Given the description of an element on the screen output the (x, y) to click on. 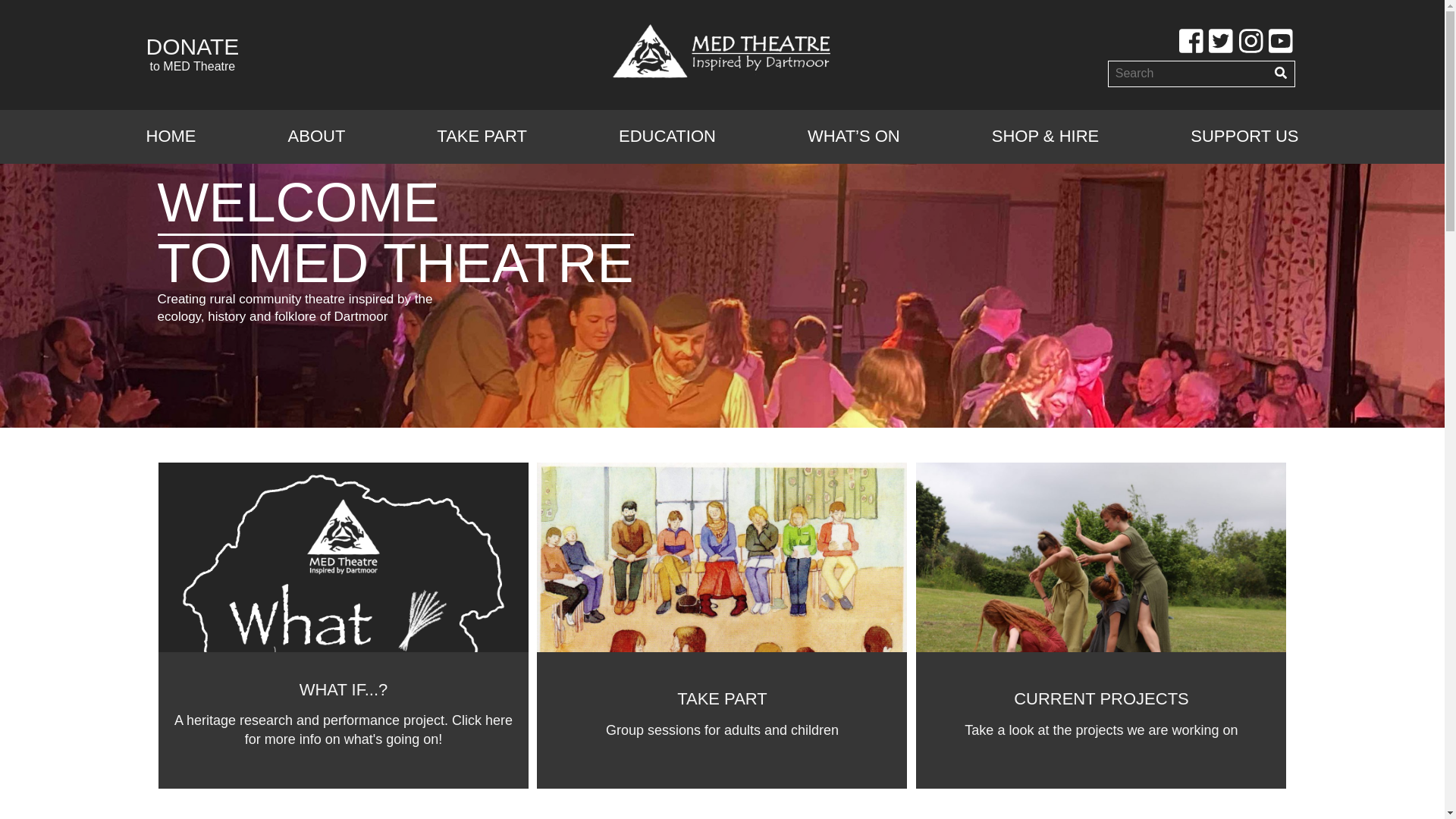
Search for: (1189, 73)
HOME (170, 136)
ABOUT (317, 136)
EDUCATION (667, 136)
TAKE PART (191, 54)
SUPPORT US (481, 136)
